Given the description of an element on the screen output the (x, y) to click on. 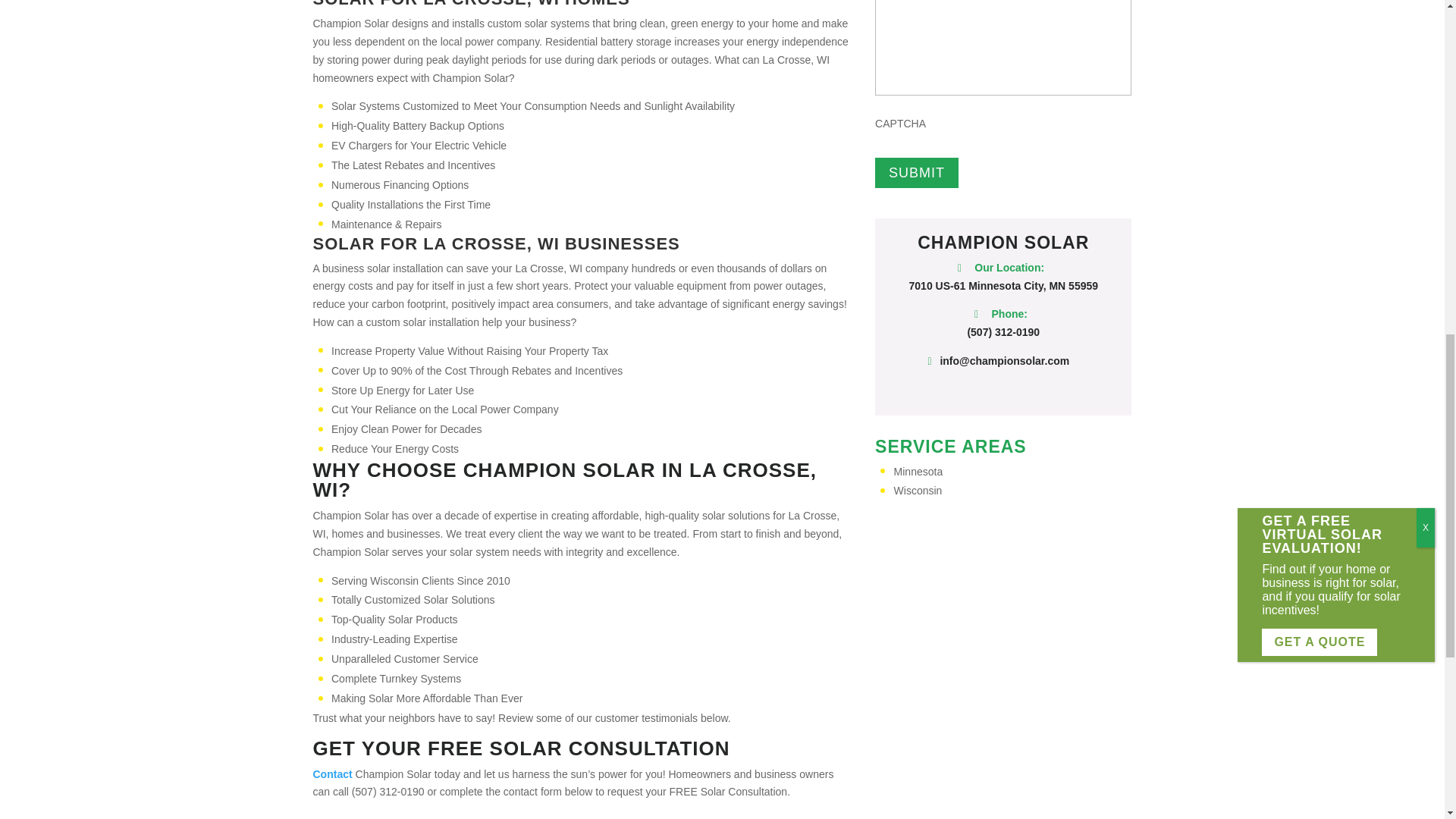
7010 US-61 Minnesota City, MN 55959 (1003, 285)
Submit (916, 173)
Contact (332, 774)
Submit (916, 173)
